Given the description of an element on the screen output the (x, y) to click on. 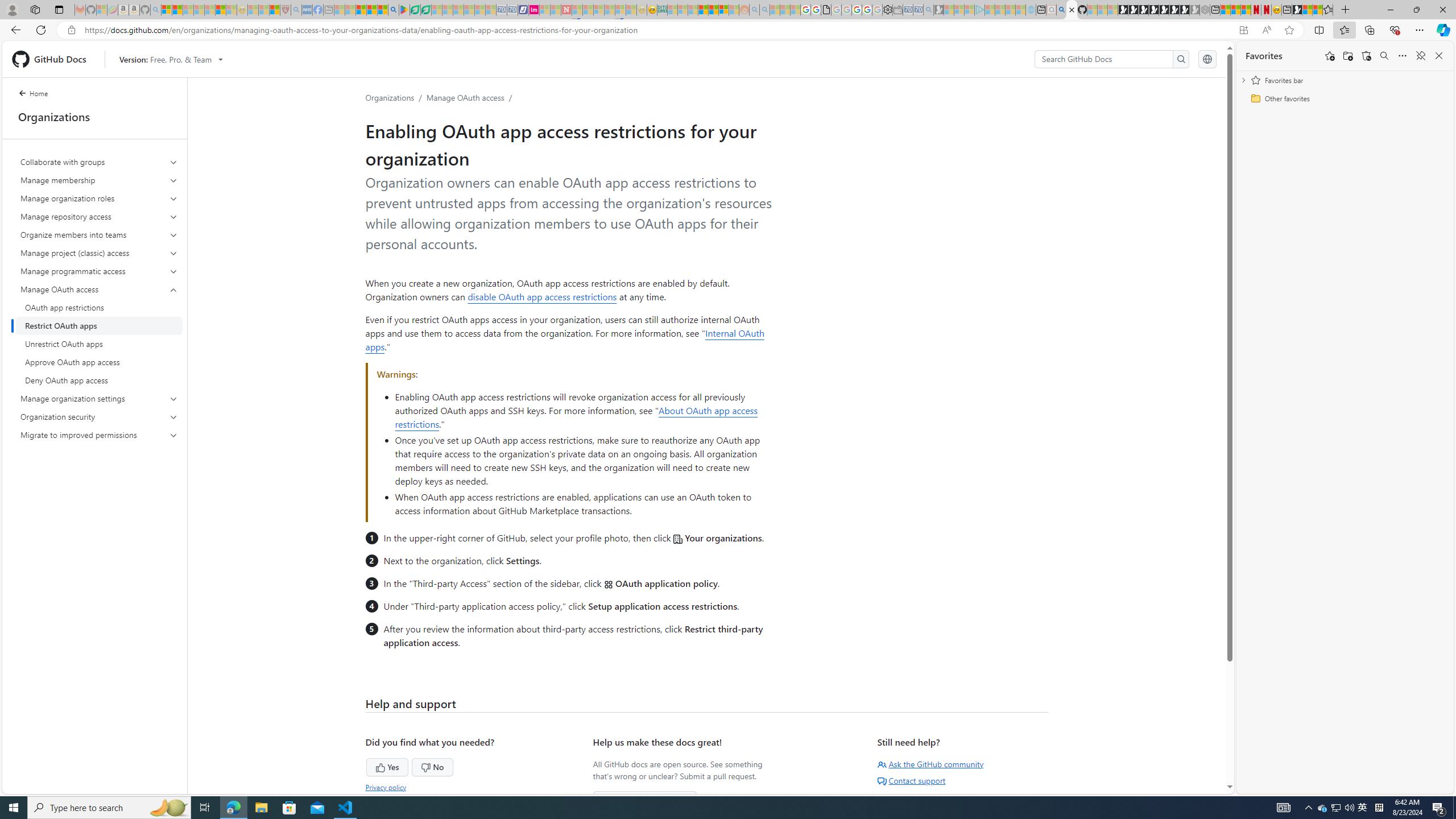
Approve OAuth app access (99, 361)
Organization security (99, 416)
Deny OAuth app access (99, 380)
Manage repository access (99, 216)
Unrestrict OAuth apps (99, 343)
Organize members into teams (99, 235)
Bing Real Estate - Home sales and rental listings - Sleeping (928, 9)
